Given the description of an element on the screen output the (x, y) to click on. 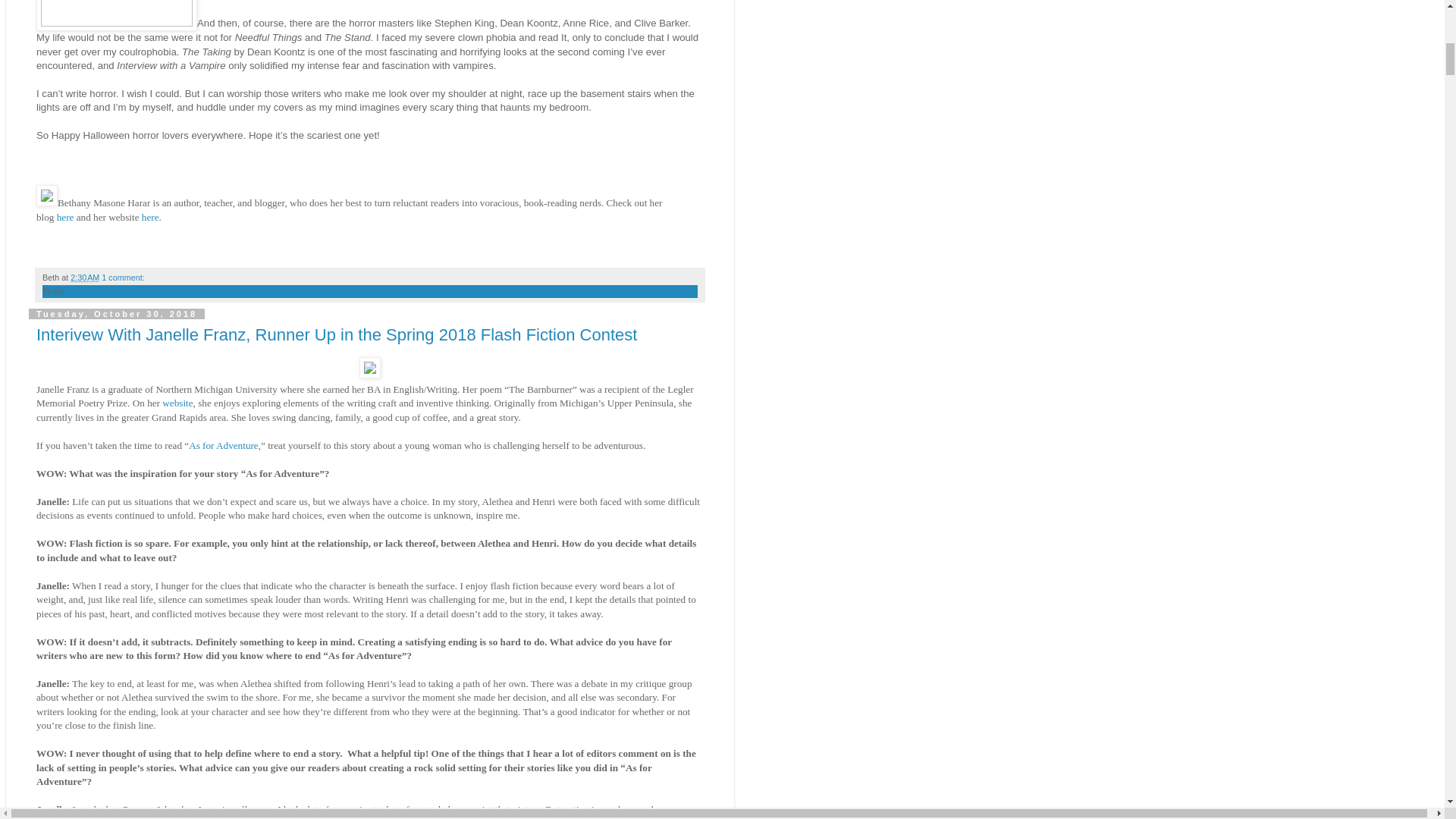
here  (66, 216)
As for Adventure (224, 445)
website (176, 402)
here (149, 216)
1 comment: (122, 276)
Share (53, 290)
permanent link (84, 276)
